Given the description of an element on the screen output the (x, y) to click on. 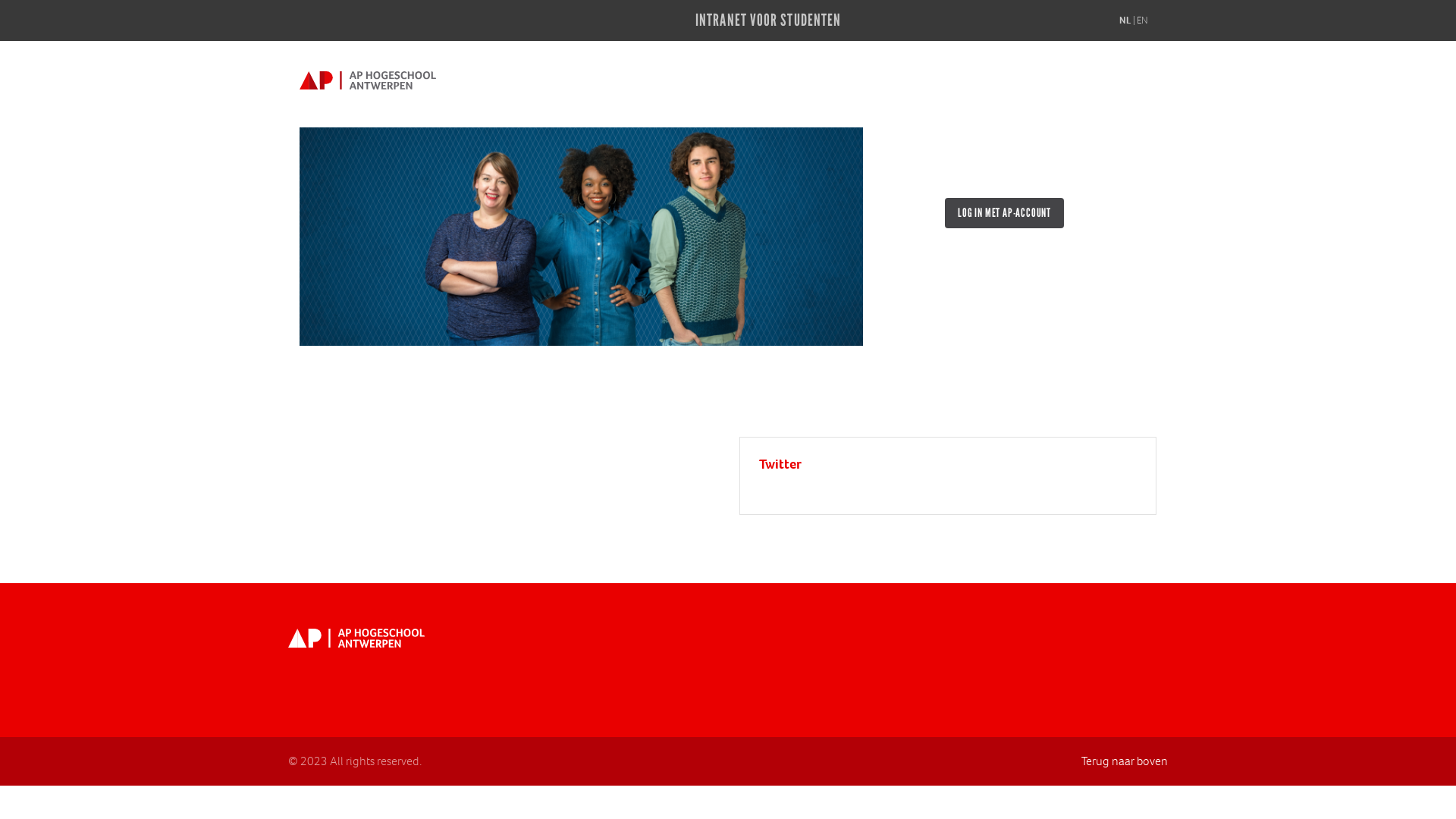
EN Element type: text (1142, 19)
Log in met AP-account Element type: text (1003, 212)
NL Element type: text (1124, 19)
Terug naar boven Element type: text (1124, 761)
